Given the description of an element on the screen output the (x, y) to click on. 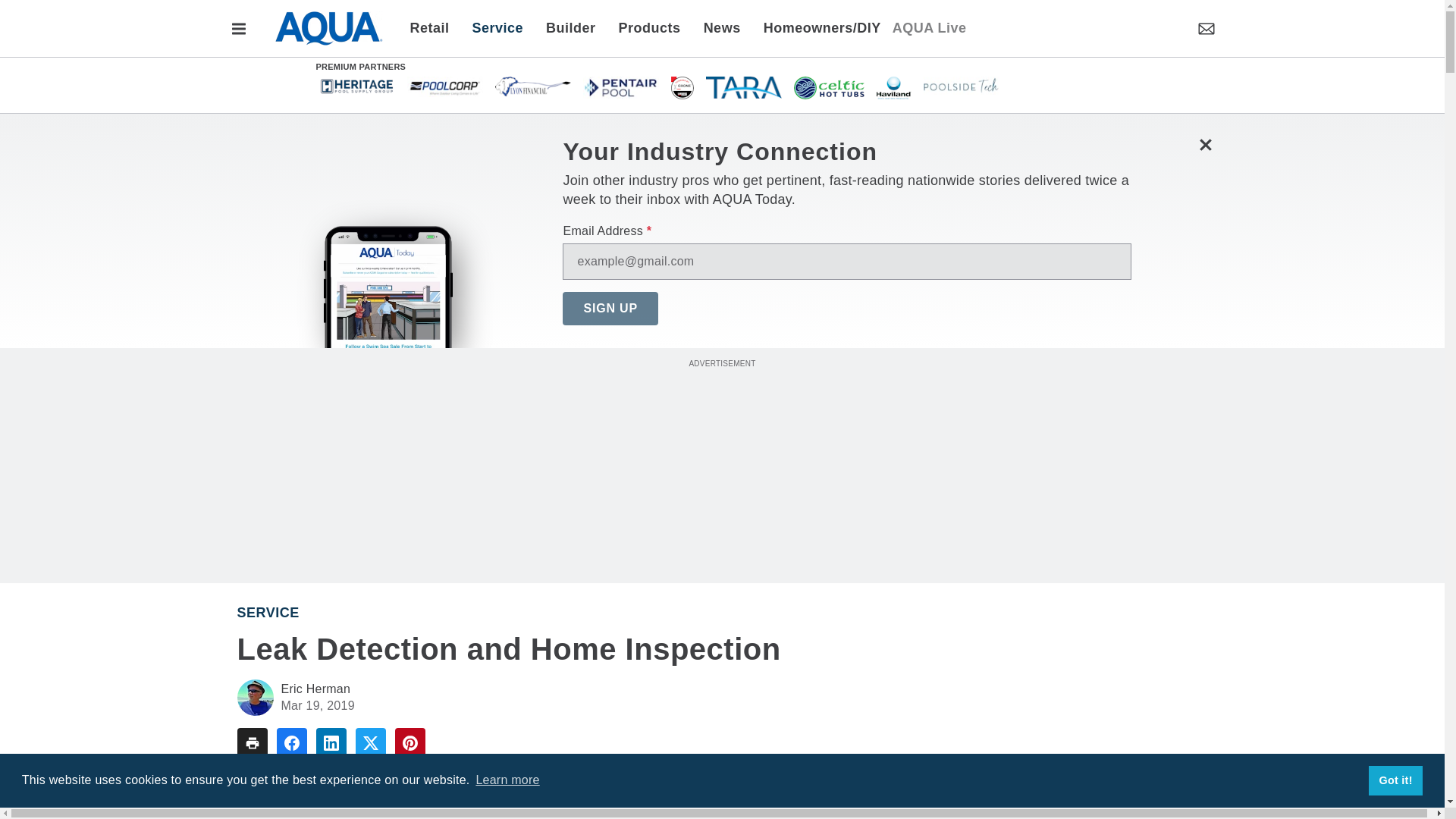
AQUA Live (929, 27)
Builder (570, 27)
Lyon Financial (532, 86)
Learn more (507, 780)
Heritage Pool Supply Group (356, 85)
Service (498, 27)
Got it! (1395, 780)
News (722, 27)
Retail (434, 27)
POOLCORP (443, 86)
